Given the description of an element on the screen output the (x, y) to click on. 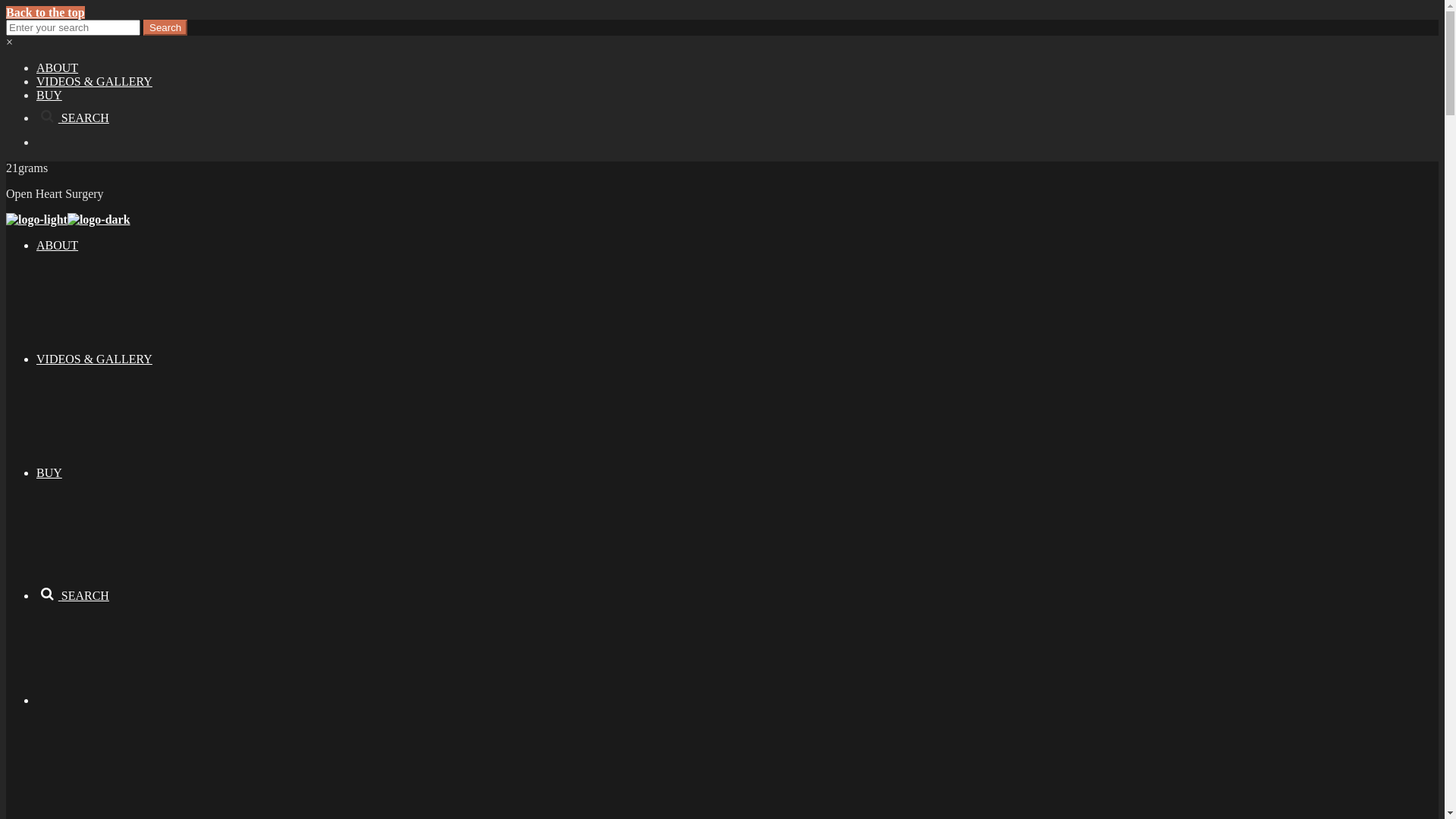
Search Element type: text (165, 27)
VIDEOS & GALLERY Element type: text (94, 81)
SEARCH Element type: text (72, 117)
Back to the top Element type: text (45, 12)
VIDEOS & GALLERY Element type: text (94, 358)
ABOUT Element type: text (57, 244)
BUY Element type: text (49, 472)
SEARCH Element type: text (72, 595)
ABOUT Element type: text (57, 67)
BUY Element type: text (49, 94)
